Given the description of an element on the screen output the (x, y) to click on. 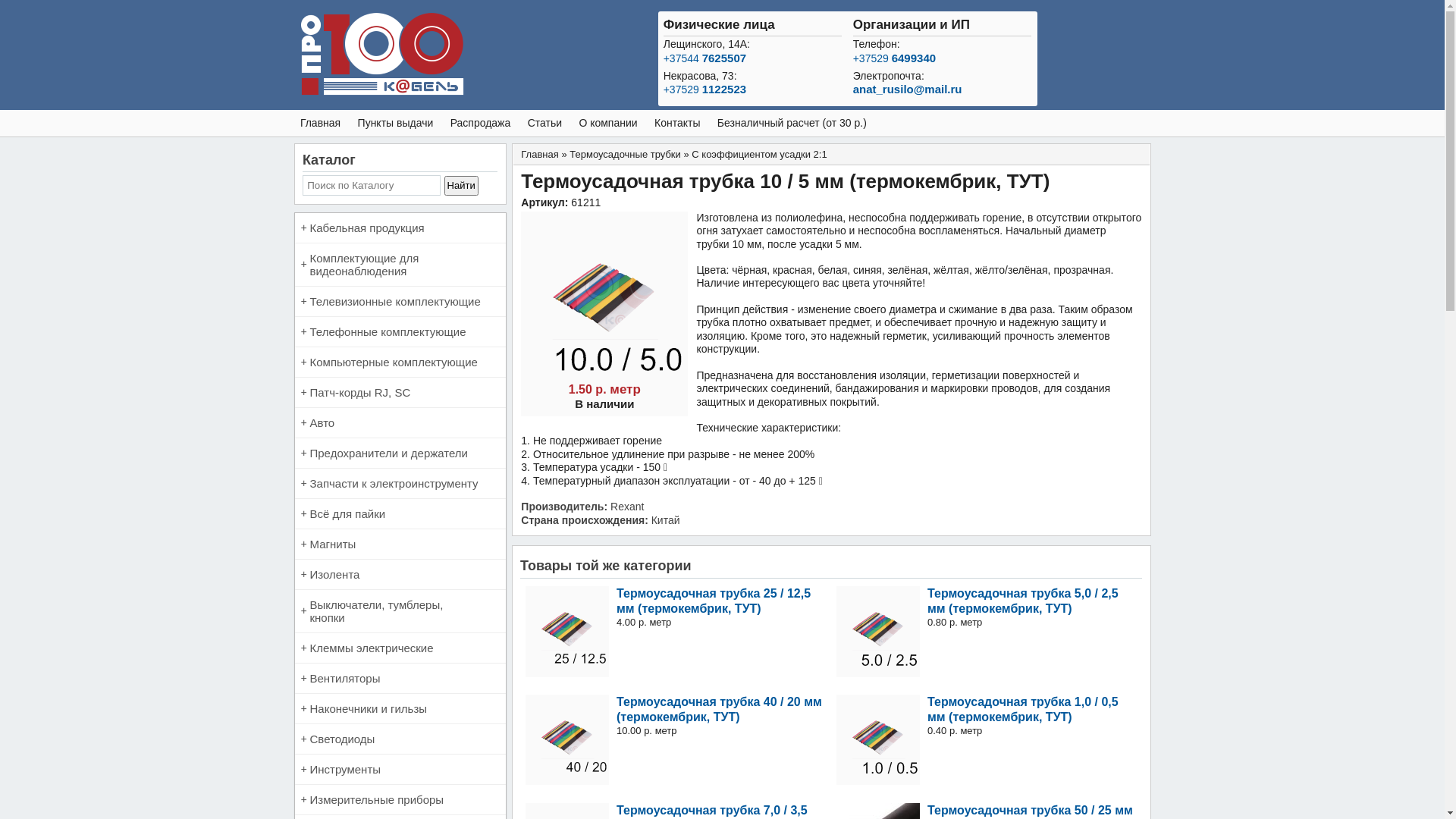
anat_rusilo@mail.ru Element type: text (907, 88)
+37544 7625507 Element type: text (704, 58)
+37529 1122523 Element type: text (704, 89)
+37529 6499340 Element type: text (894, 58)
